Given the description of an element on the screen output the (x, y) to click on. 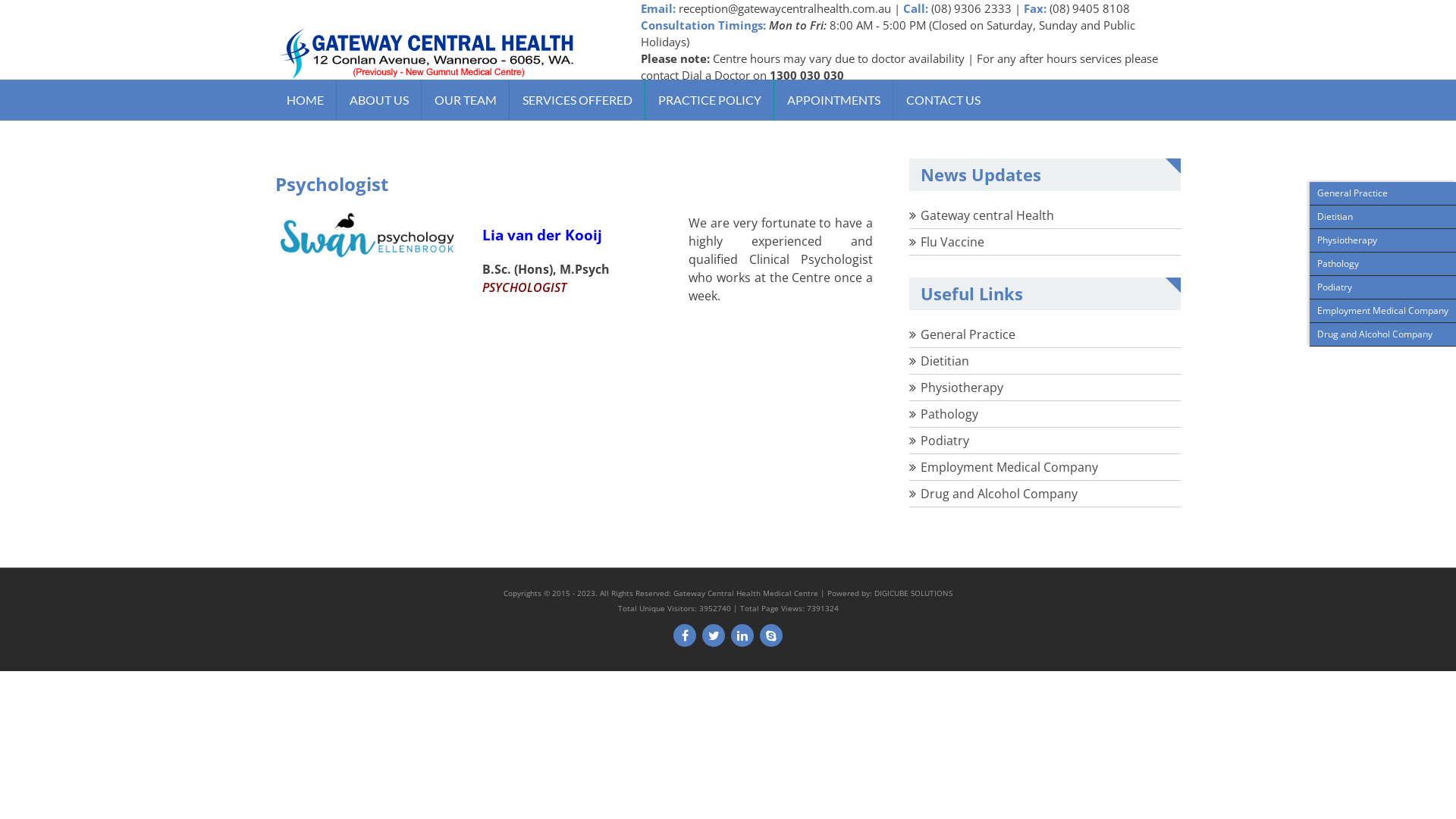
Gateway Central Health Medical Centre Element type: text (745, 592)
Pathology Element type: text (949, 413)
OUR TEAM Element type: text (465, 99)
General Practice Element type: text (967, 334)
Employment Medical Company Element type: text (1009, 466)
Podiatry Element type: text (944, 440)
Drug and Alcohol Company Element type: text (998, 493)
CONTACT US Element type: text (942, 99)
Physiotherapy Element type: text (961, 387)
Dietitian Element type: text (944, 360)
Skip to content Element type: text (0, 0)
ABOUT US Element type: text (379, 99)
PRACTICE POLICY Element type: text (709, 99)
APPOINTMENTS Element type: text (833, 99)
DIGICUBE SOLUTIONS Element type: text (913, 592)
HOME Element type: text (305, 99)
SERVICES OFFERED Element type: text (577, 99)
Flu Vaccine Element type: text (952, 241)
GATEWAY CENTRAL HEALTH MEDICAL CENTRE Element type: text (558, 116)
Gateway central Health Element type: text (987, 215)
